Given the description of an element on the screen output the (x, y) to click on. 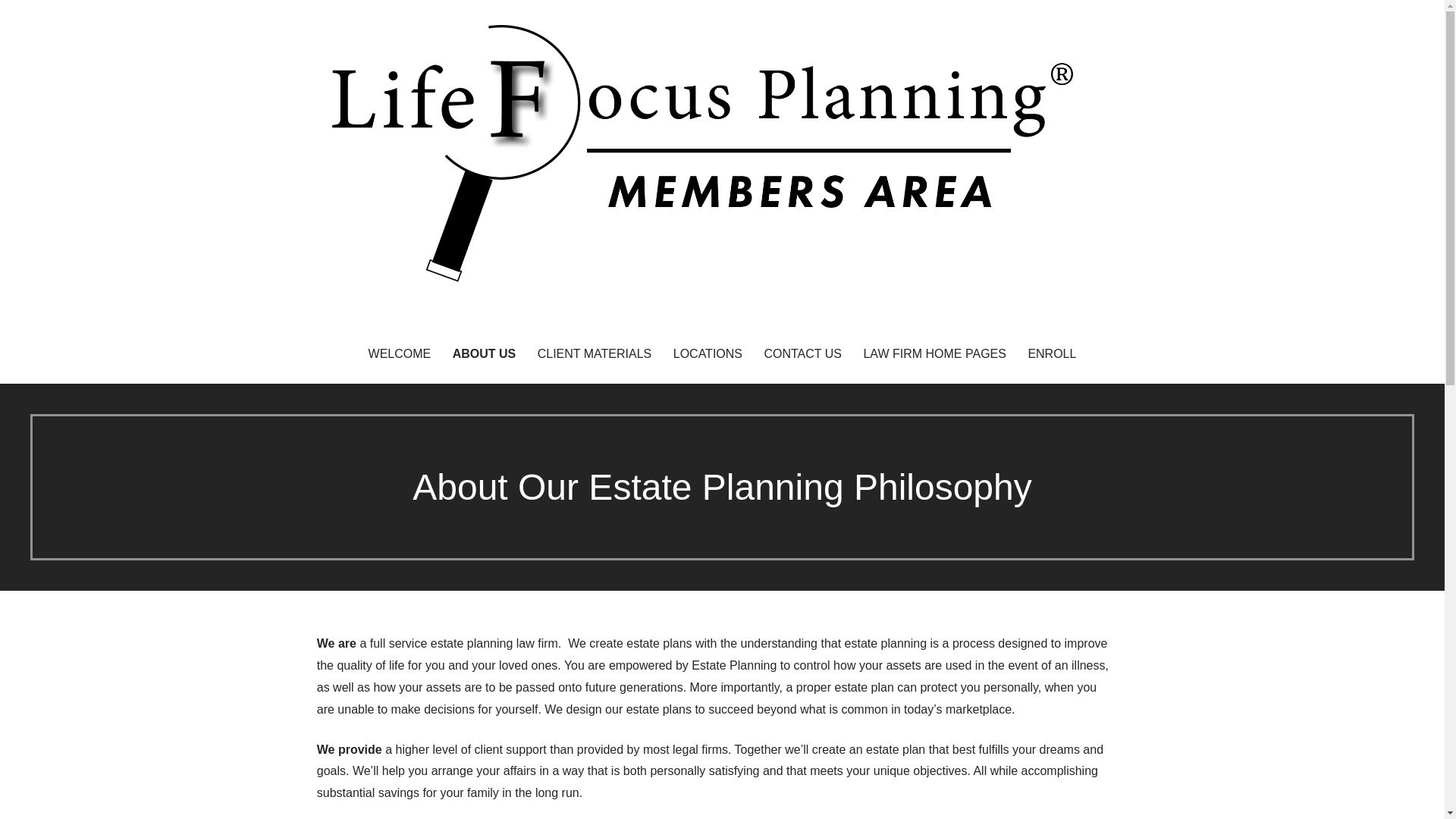
CONTACT US (802, 354)
LOCATIONS (707, 354)
Life Focus Planning (437, 320)
CLIENT MATERIALS (594, 354)
LAW FIRM HOME PAGES (933, 354)
ABOUT US (484, 354)
WELCOME (400, 354)
ENROLL (1050, 354)
